Given the description of an element on the screen output the (x, y) to click on. 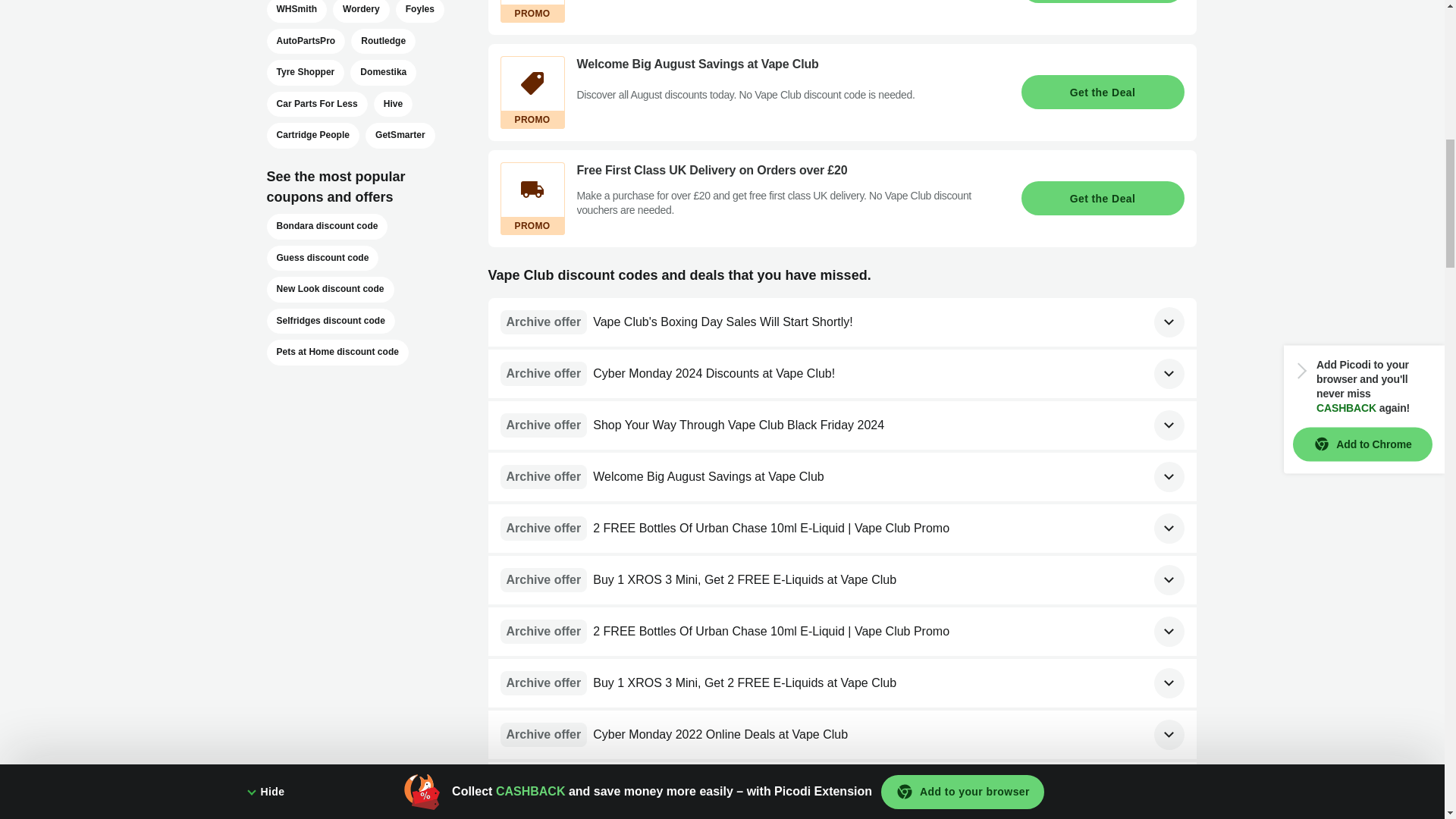
Wordery (361, 11)
Tyre Shopper (305, 72)
Get the Deal (1101, 91)
Routledge (382, 41)
Get the Deal (1101, 1)
WHSmith (296, 11)
Domestika (383, 72)
AutoPartsPro (306, 41)
Foyles (420, 11)
Get the Deal (1101, 197)
